Given the description of an element on the screen output the (x, y) to click on. 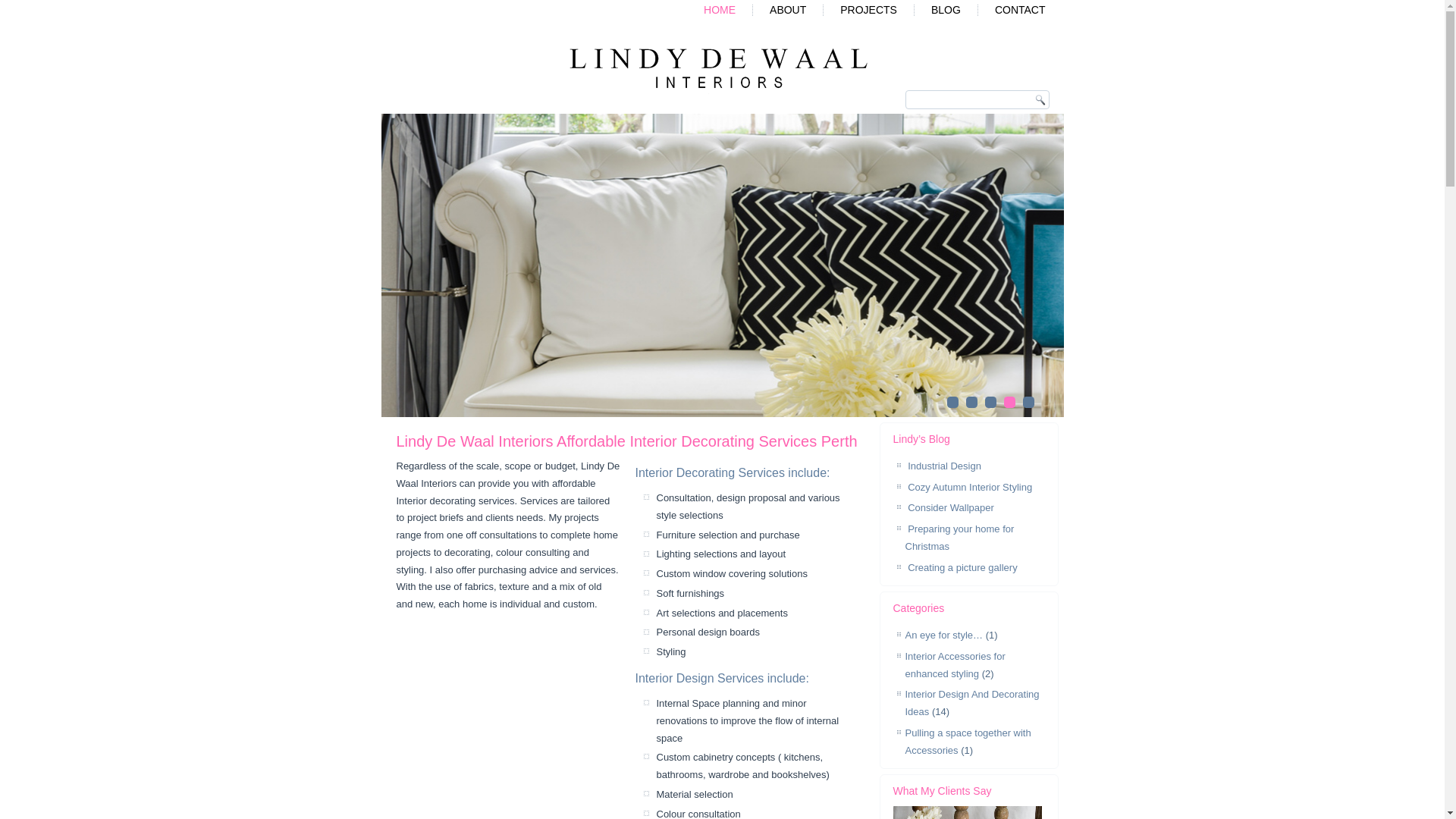
Interior Accessories for enhanced styling Element type: text (955, 664)
BLOG Element type: text (945, 10)
PROJECTS Element type: text (868, 10)
Lindy De Waal Interiors- Home Decorating Perth Element type: hover (718, 67)
ABOUT Element type: text (787, 10)
Pulling a space together with Accessories Element type: text (968, 741)
Consider Wallpaper Element type: text (950, 507)
Creating a picture gallery Element type: text (962, 567)
HOME Element type: text (719, 10)
Industrial Design Element type: text (944, 465)
Interior Design And Decorating Ideas Element type: text (972, 702)
CONTACT Element type: text (1020, 10)
Preparing your home for Christmas Element type: text (959, 537)
Cozy Autumn Interior Styling Element type: text (969, 486)
